Given the description of an element on the screen output the (x, y) to click on. 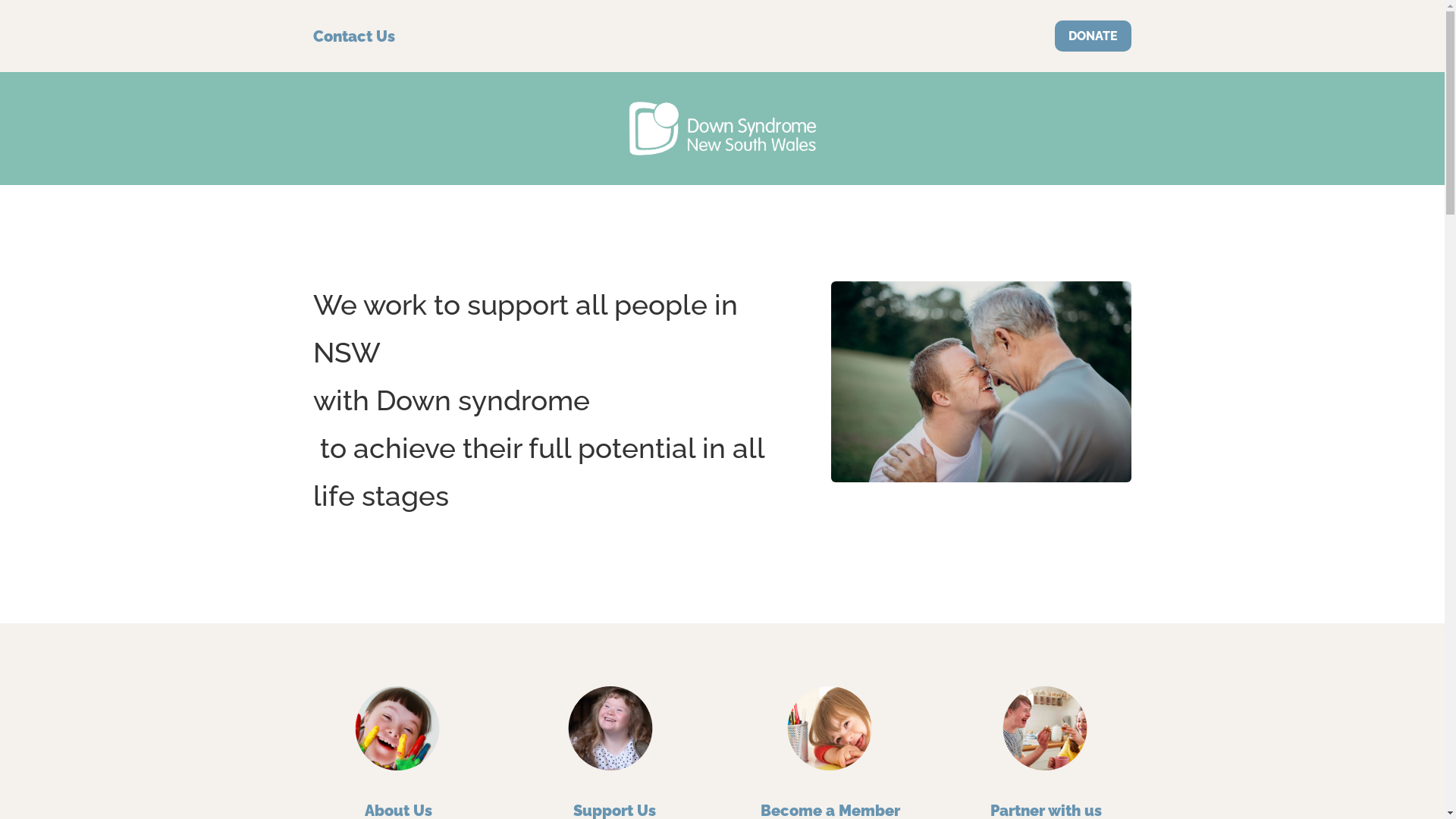
DONATE Element type: text (1092, 35)
DS Vector-white Element type: hover (722, 128)
stock image 5 Element type: hover (981, 381)
